Given the description of an element on the screen output the (x, y) to click on. 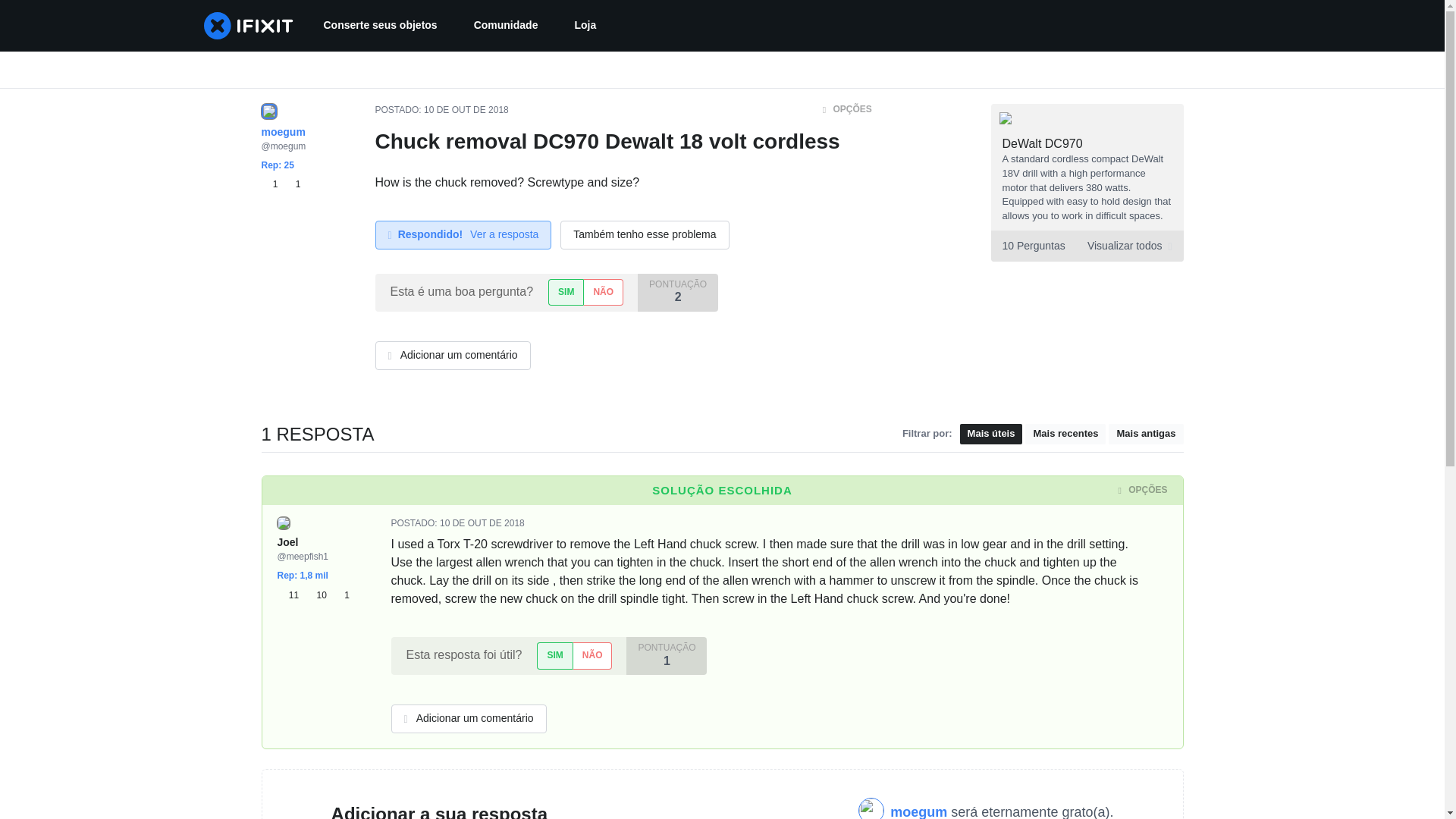
Wed, 10 Oct 2018 17:00:10 -0700 (465, 109)
Respondido! Ver a resposta (462, 234)
POSTADO: 10 DE OUT DE 2018 (457, 522)
1 1 (279, 184)
Wed, 10 Oct 2018 17:29:38 -0700 (481, 522)
Loja (585, 25)
Comunidade (505, 25)
Mais antigas (1145, 434)
1 emblemas de Ouro (341, 594)
Mais recentes (1065, 434)
11 10 1 (313, 594)
1 emblemas de Prata (292, 184)
1 emblemas de Bronze (271, 184)
SIM (554, 655)
SIM (565, 292)
